Given the description of an element on the screen output the (x, y) to click on. 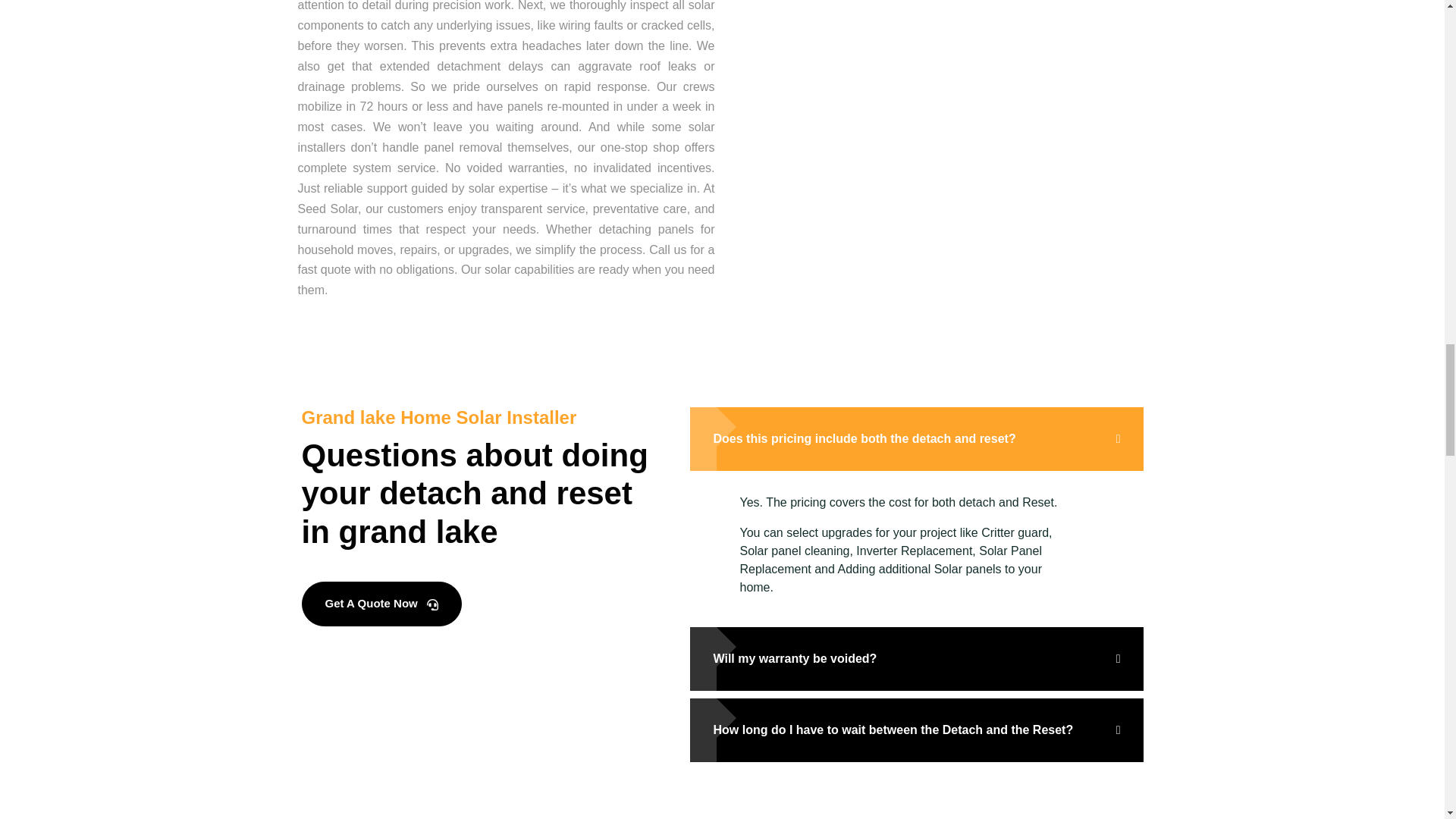
Does this pricing include both the detach and reset? (916, 438)
How long do I have to wait between the Detach and the Reset? (916, 730)
Will my warranty be voided? (916, 659)
Get A Quote Now (381, 603)
